Given the description of an element on the screen output the (x, y) to click on. 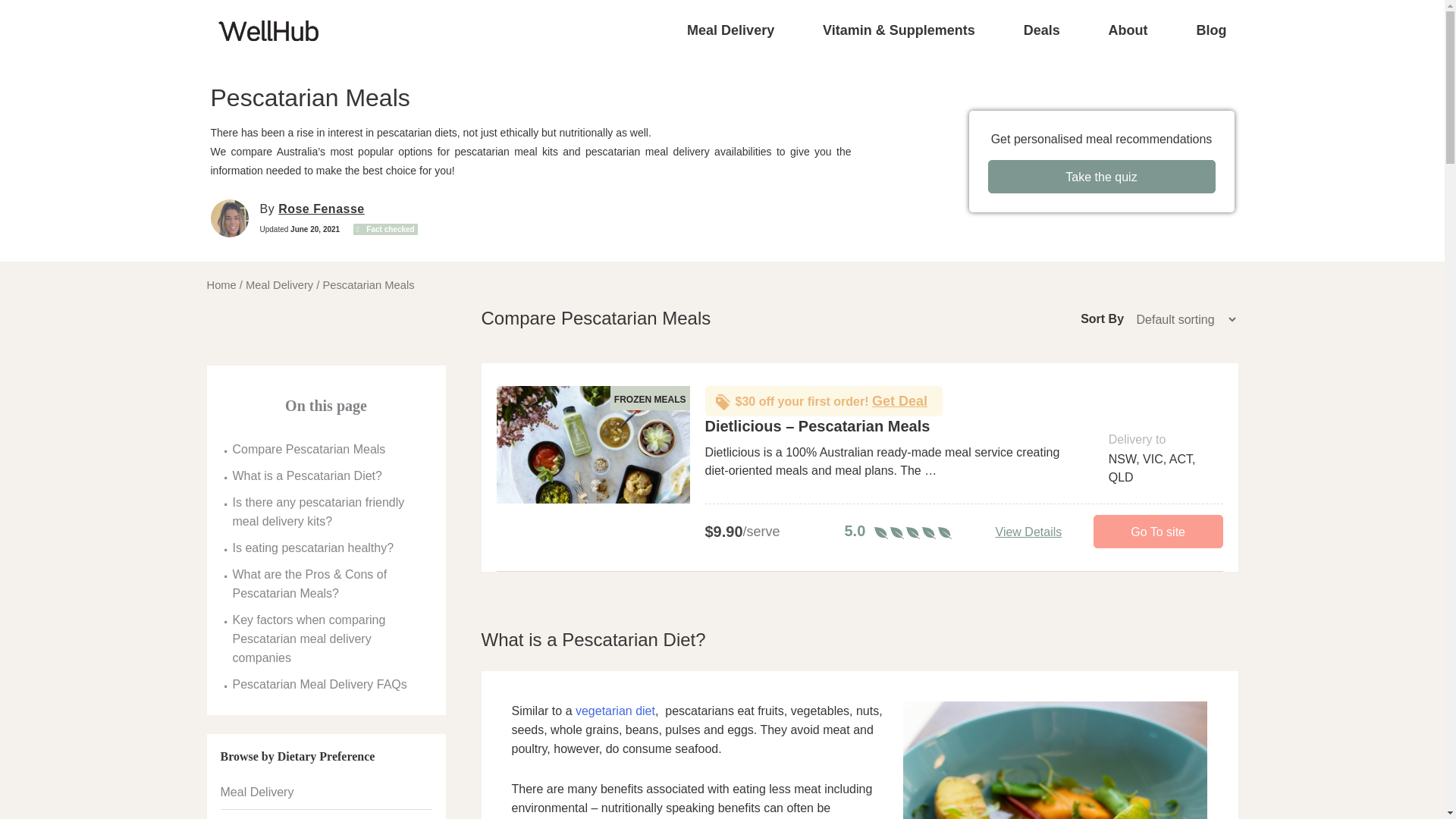
Meal Delivery (730, 30)
